Given the description of an element on the screen output the (x, y) to click on. 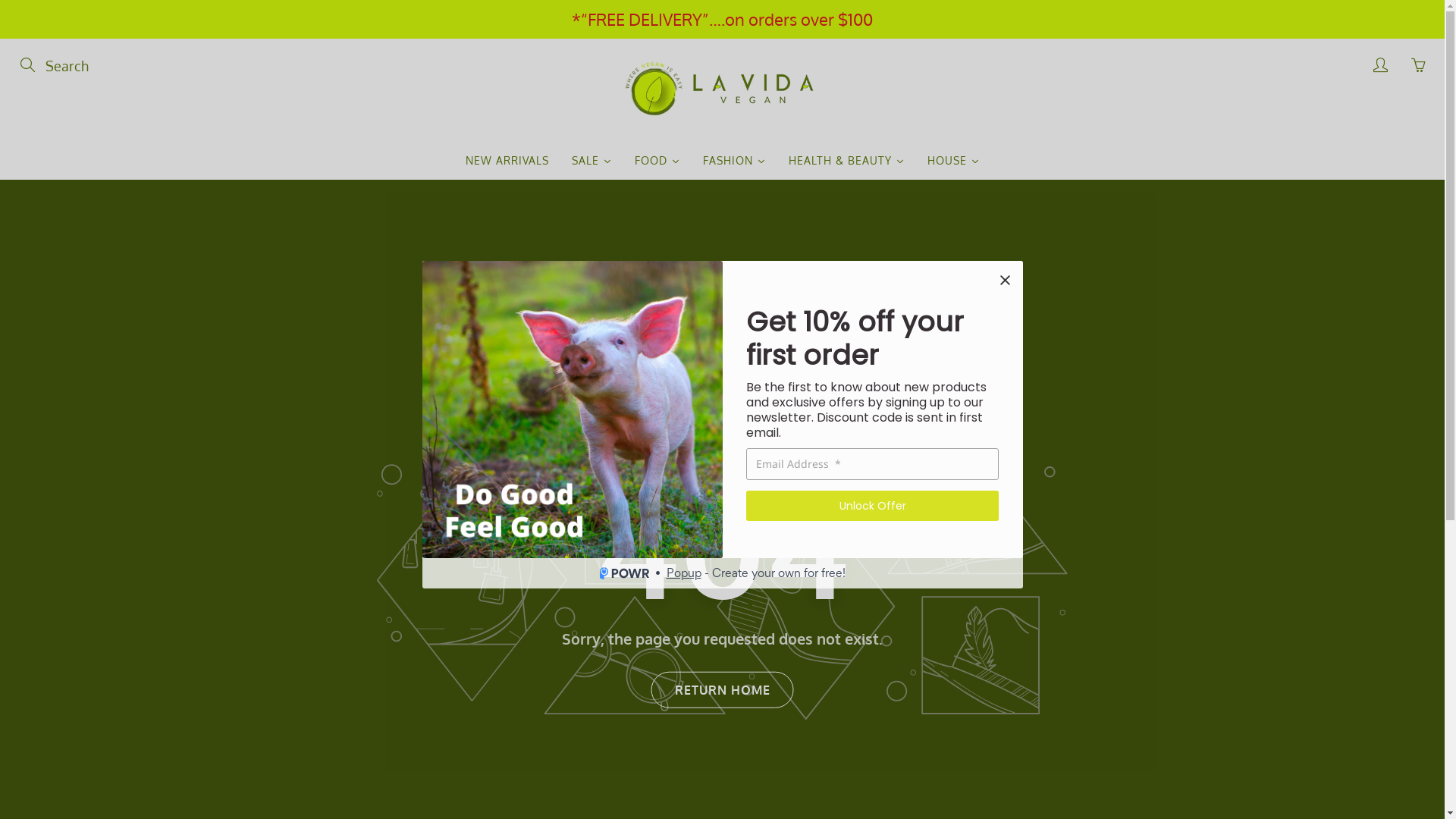
You have 0 items in your cart Element type: text (1417, 64)
FOOD Element type: text (657, 160)
FASHION Element type: text (734, 160)
NEW ARRIVALS Element type: text (506, 160)
SALE Element type: text (590, 160)
My account Element type: text (1379, 64)
Search Element type: text (28, 64)
HOUSE Element type: text (953, 160)
HEALTH & BEAUTY Element type: text (845, 160)
RETURN HOME Element type: text (721, 689)
